Given the description of an element on the screen output the (x, y) to click on. 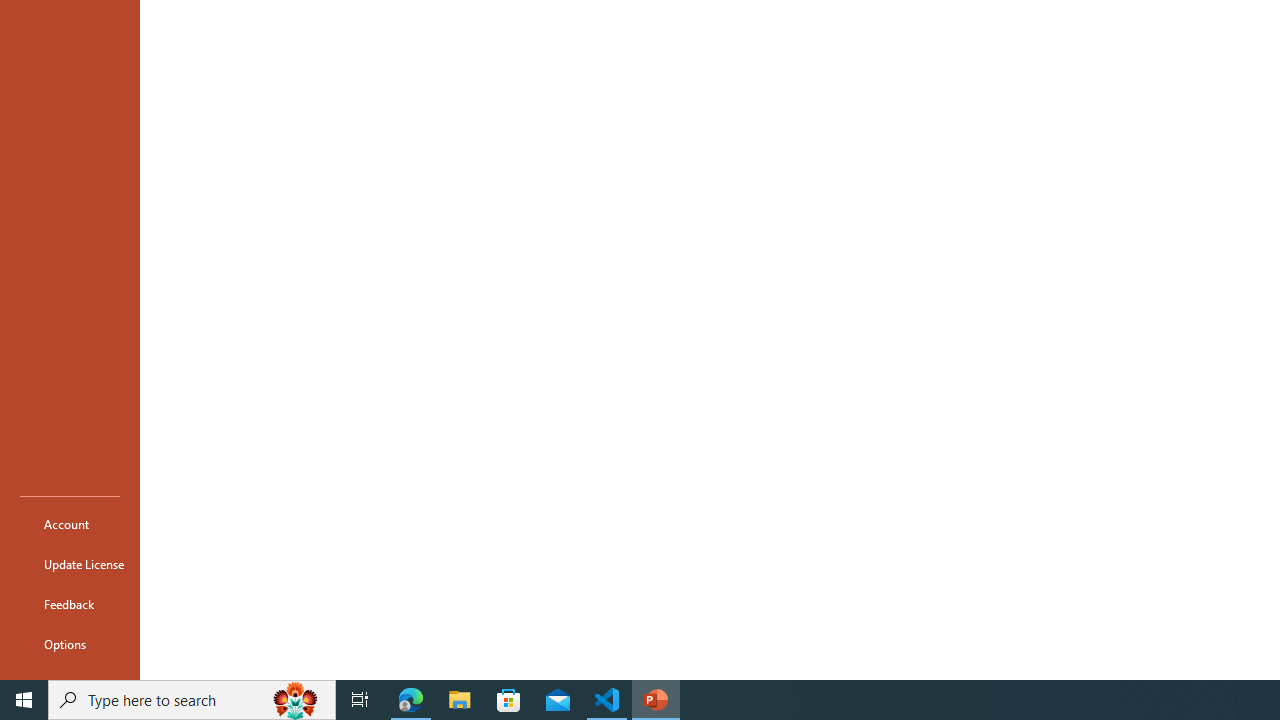
Account (69, 523)
Update License (69, 563)
Options (69, 643)
Feedback (69, 603)
